Given the description of an element on the screen output the (x, y) to click on. 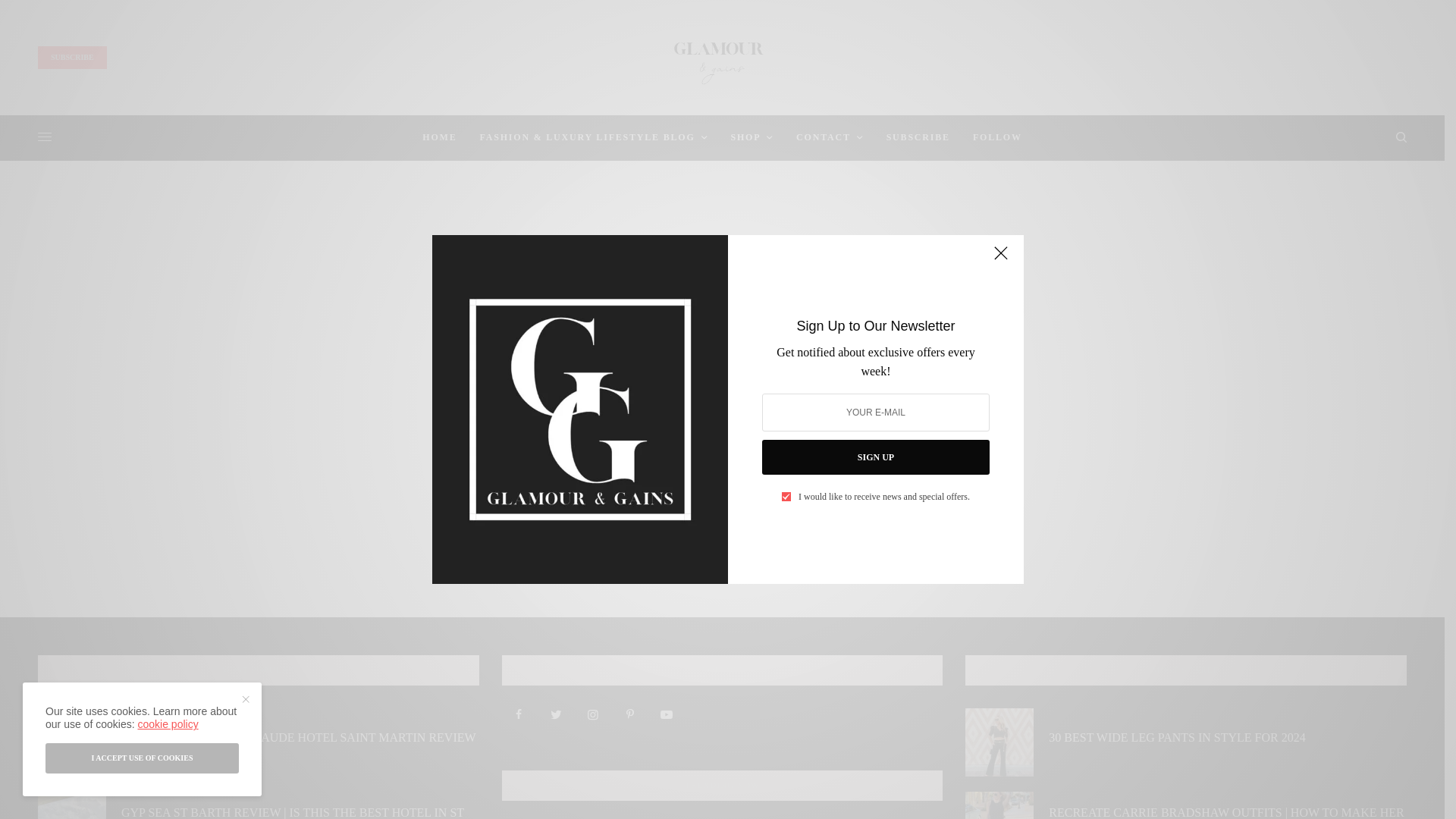
An Honest Bleu Emeraude Hotel Saint Martin Review (298, 737)
SUBSCRIBE (71, 56)
SIGN UP (875, 457)
HOME (439, 136)
Glamour and Gains (722, 61)
30 Best wide leg pants in style for 2024 (1176, 737)
